Given the description of an element on the screen output the (x, y) to click on. 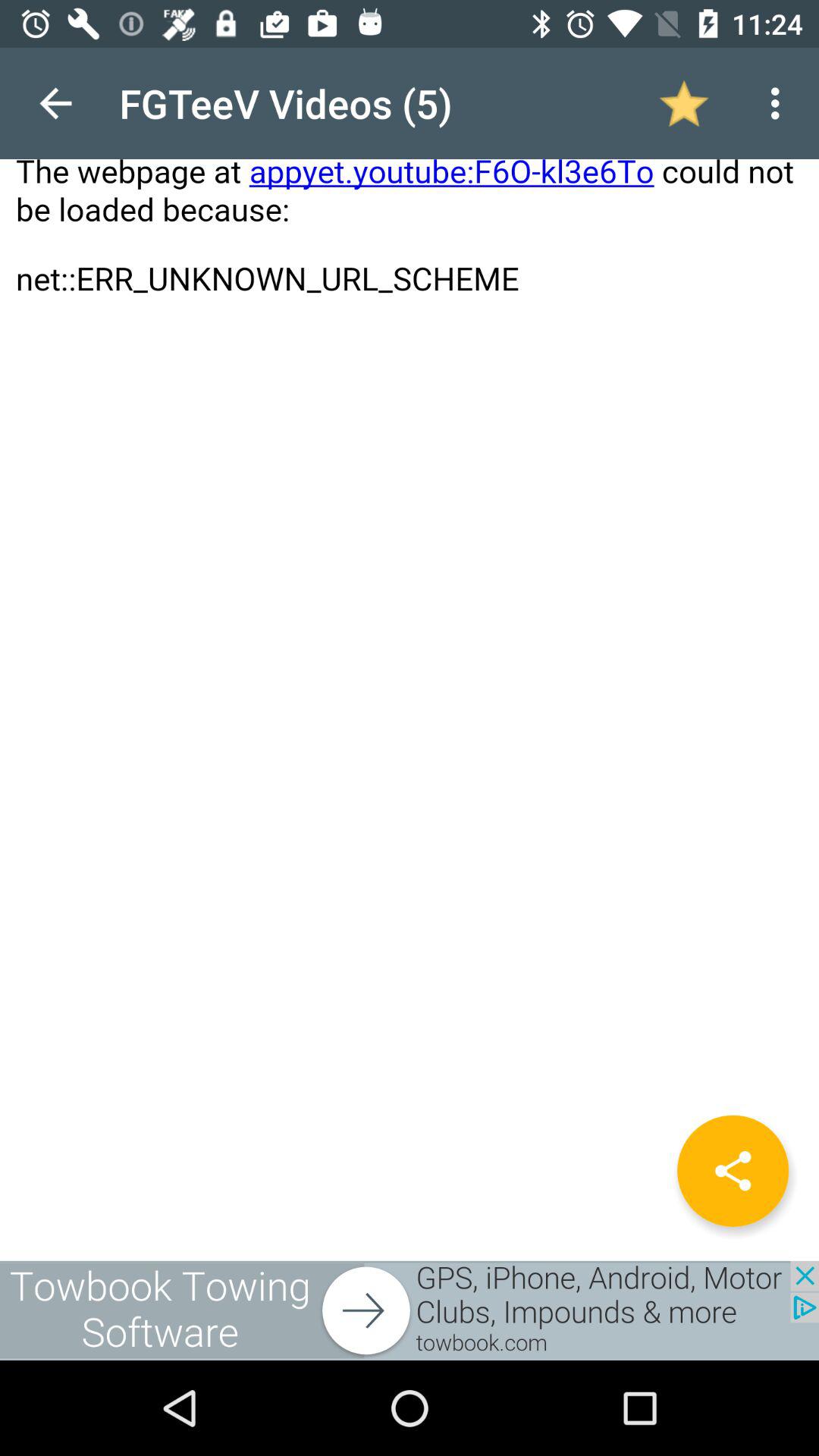
open page (409, 653)
